Given the description of an element on the screen output the (x, y) to click on. 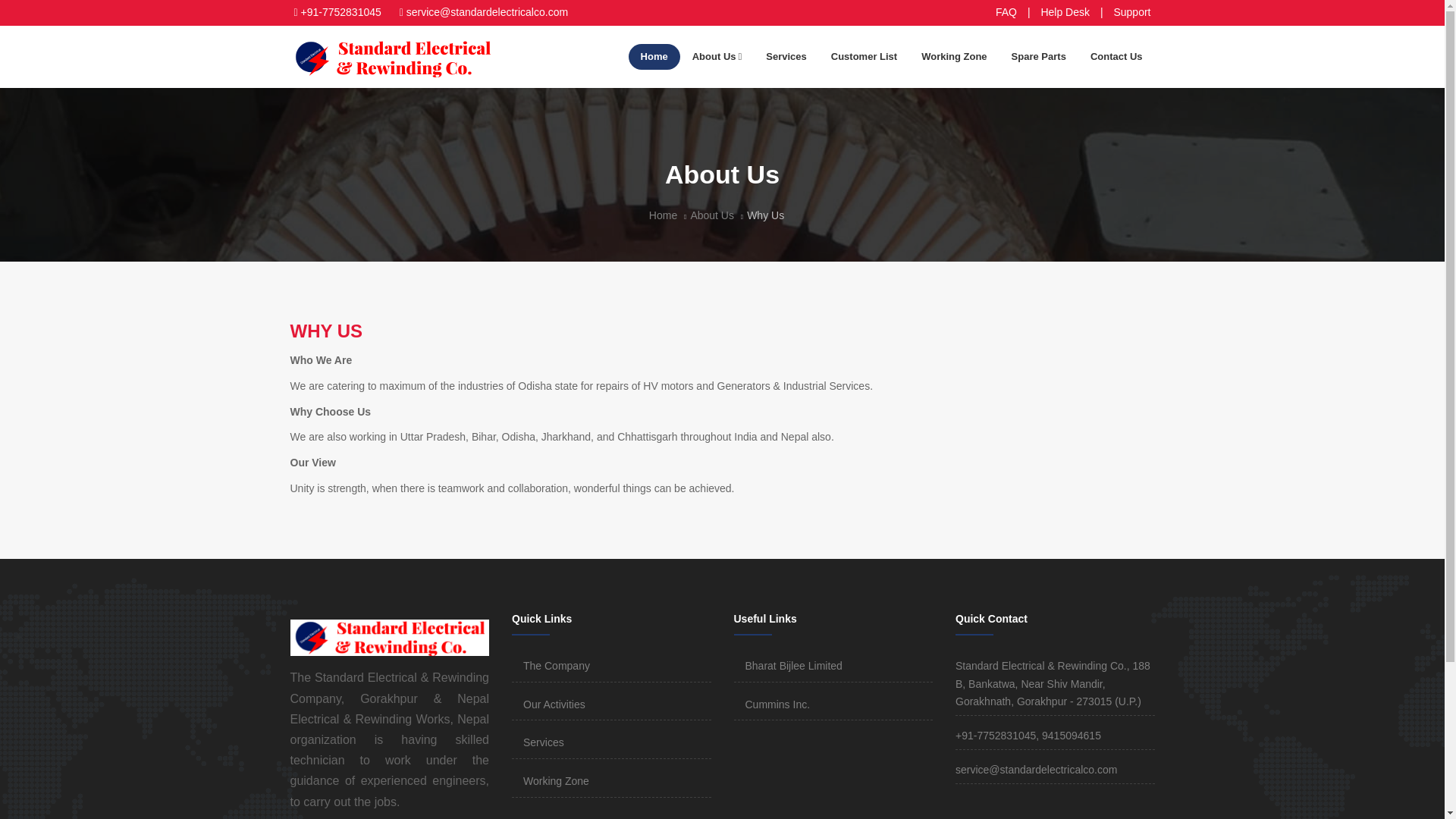
Support (1131, 11)
Spare Parts (1038, 57)
Help Desk (1065, 11)
The Company (555, 665)
Cummins Inc. (776, 704)
About Us (716, 57)
FAQ (1005, 11)
Working Zone (555, 780)
Services (786, 57)
About Us (711, 215)
Working Zone (953, 57)
Bharat Bijlee Limited (792, 665)
Services (543, 742)
Home (663, 215)
